Given the description of an element on the screen output the (x, y) to click on. 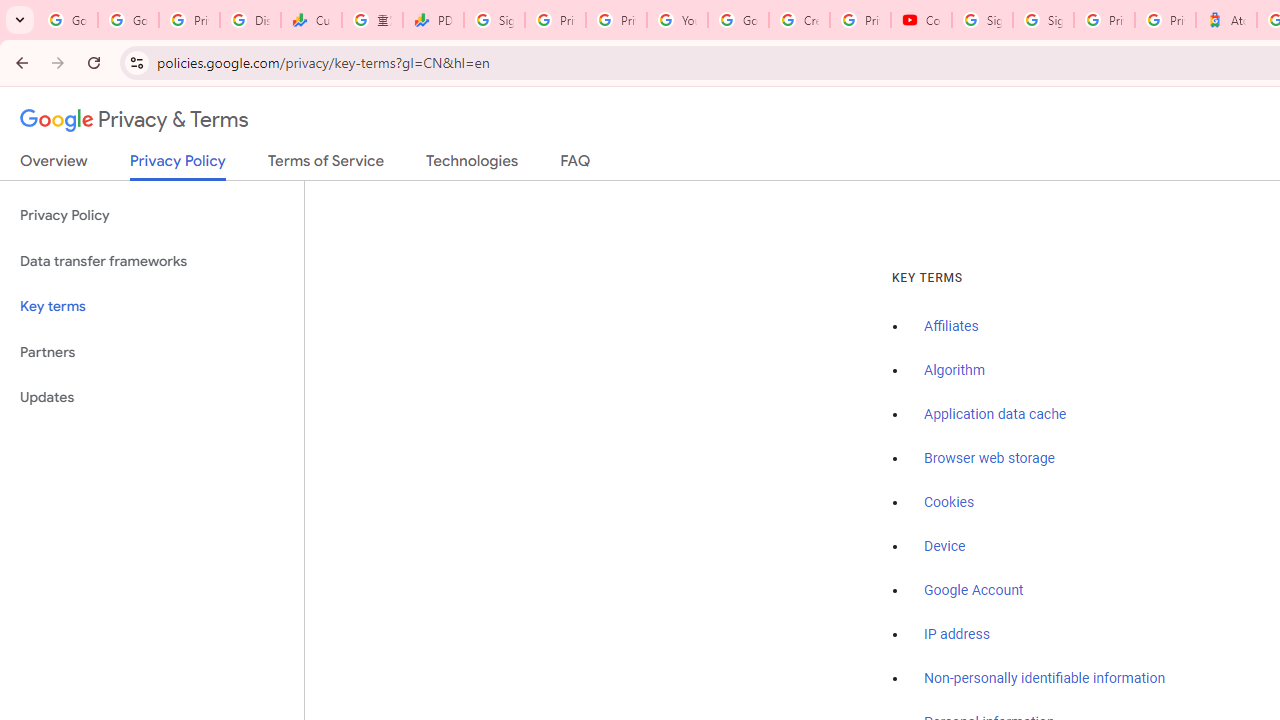
Affiliates (951, 327)
Create your Google Account (799, 20)
Non-personally identifiable information (1045, 679)
Algorithm (954, 371)
Device (945, 546)
Sign in - Google Accounts (493, 20)
Content Creator Programs & Opportunities - YouTube Creators (921, 20)
PDD Holdings Inc - ADR (PDD) Price & News - Google Finance (433, 20)
IP address (956, 634)
